Given the description of an element on the screen output the (x, y) to click on. 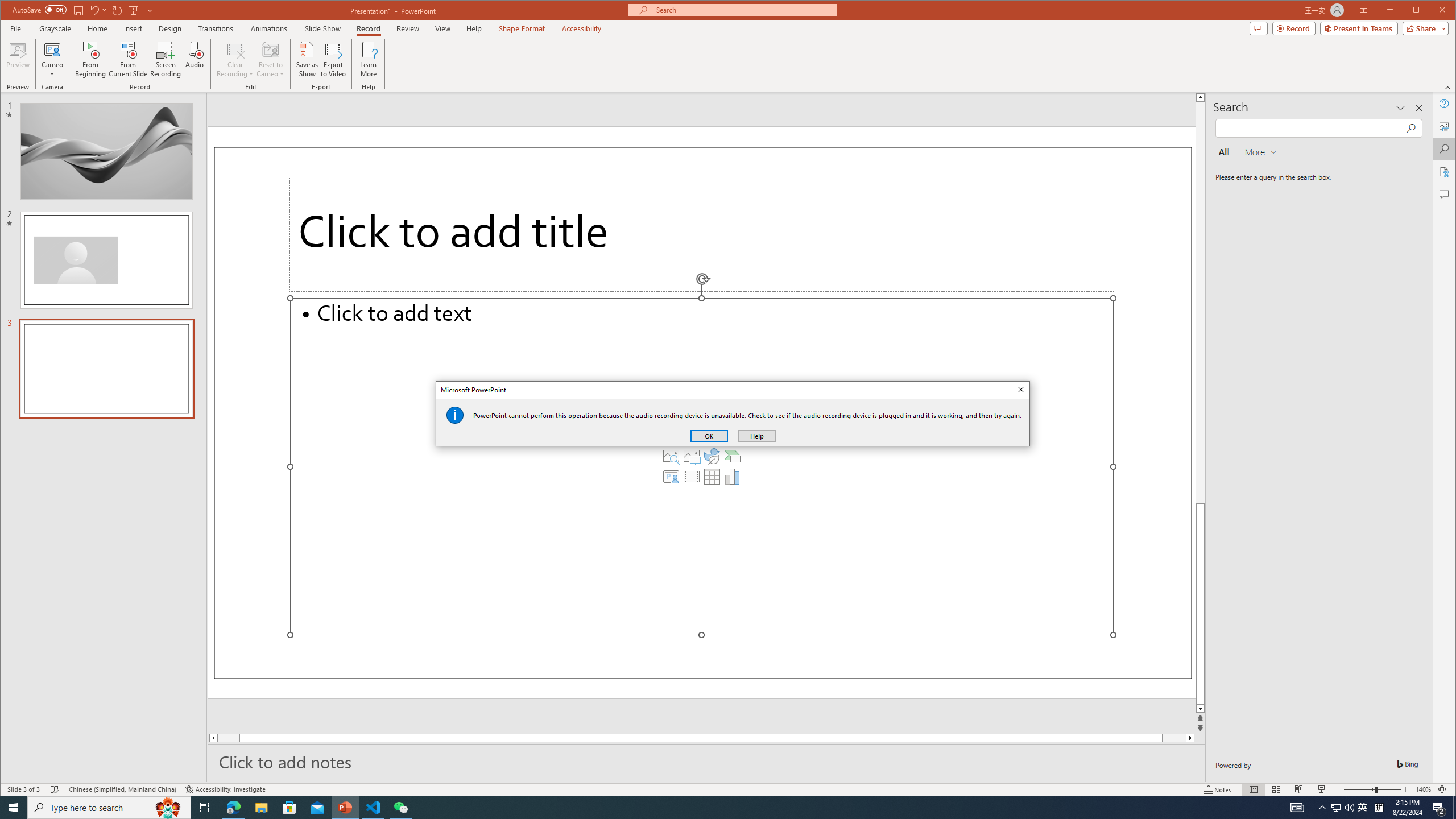
Audio (194, 59)
Microsoft Edge - 1 running window (233, 807)
Slide Notes (706, 761)
